Given the description of an element on the screen output the (x, y) to click on. 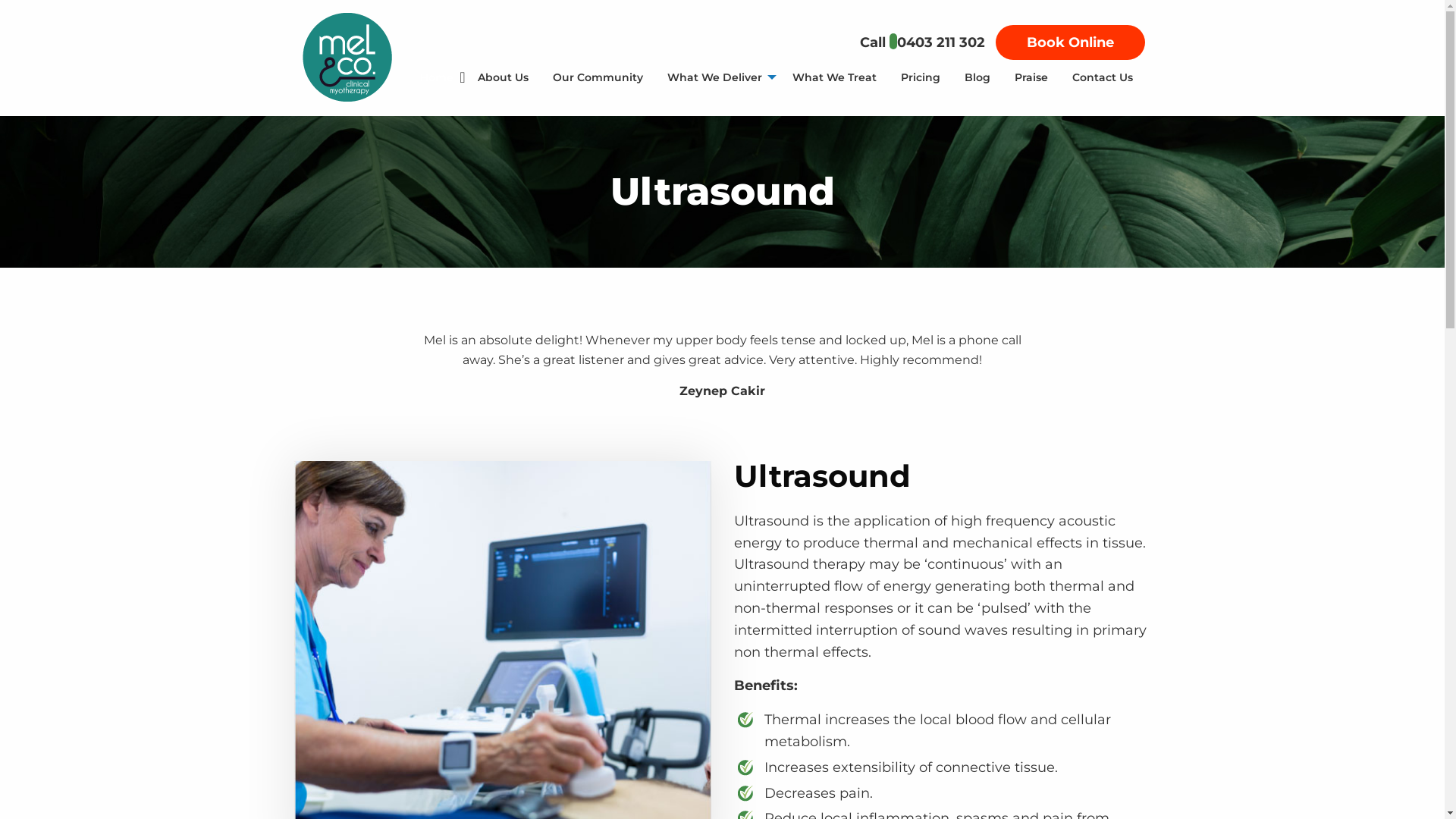
Blog Element type: text (977, 77)
Home Element type: text (436, 77)
What We Treat Element type: text (833, 77)
What We Deliver Element type: text (717, 77)
Pricing Element type: text (920, 77)
Contact Us Element type: text (1102, 77)
0403 211 302 Element type: text (940, 42)
Our Community Element type: text (596, 77)
About Us Element type: text (502, 77)
Book Online Element type: text (1069, 42)
Praise Element type: text (1031, 77)
